Given the description of an element on the screen output the (x, y) to click on. 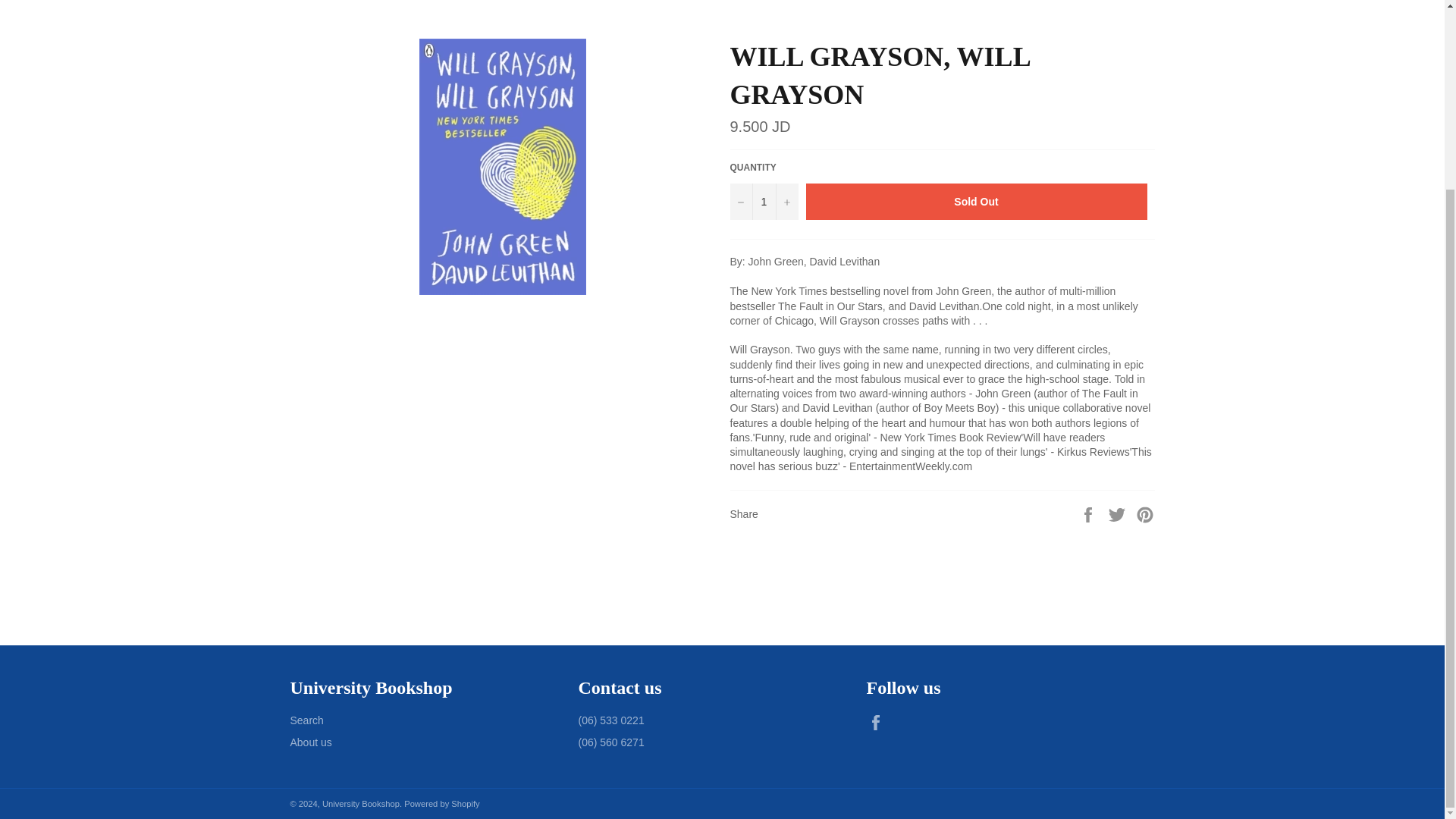
Pin on Pinterest (1144, 512)
University Bookshop on Facebook (878, 722)
1 (763, 201)
Tweet on Twitter (1118, 512)
Share on Facebook (1089, 512)
